Given the description of an element on the screen output the (x, y) to click on. 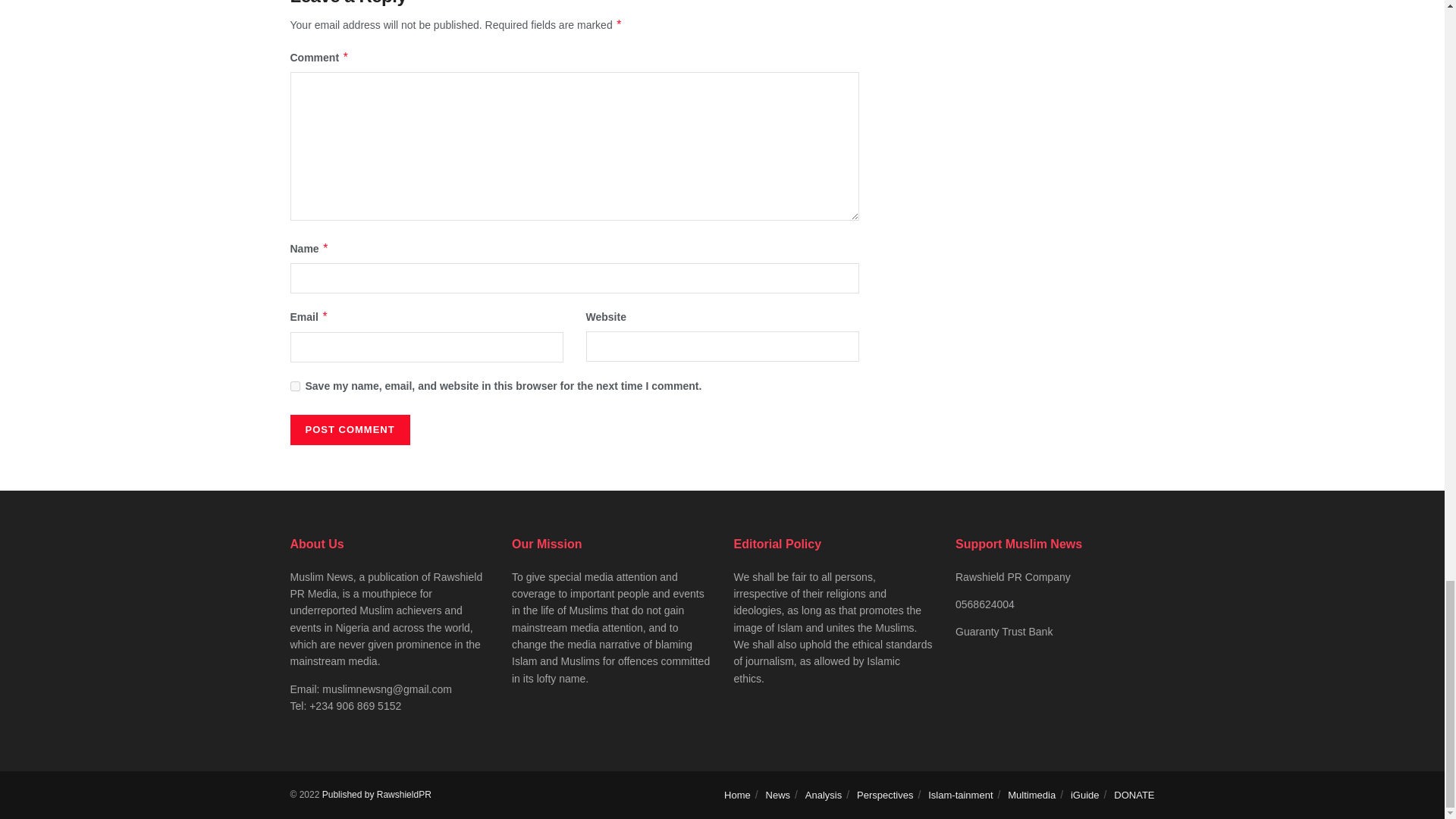
yes (294, 386)
Published by RawshieldPR (375, 794)
Post Comment (349, 429)
